Given the description of an element on the screen output the (x, y) to click on. 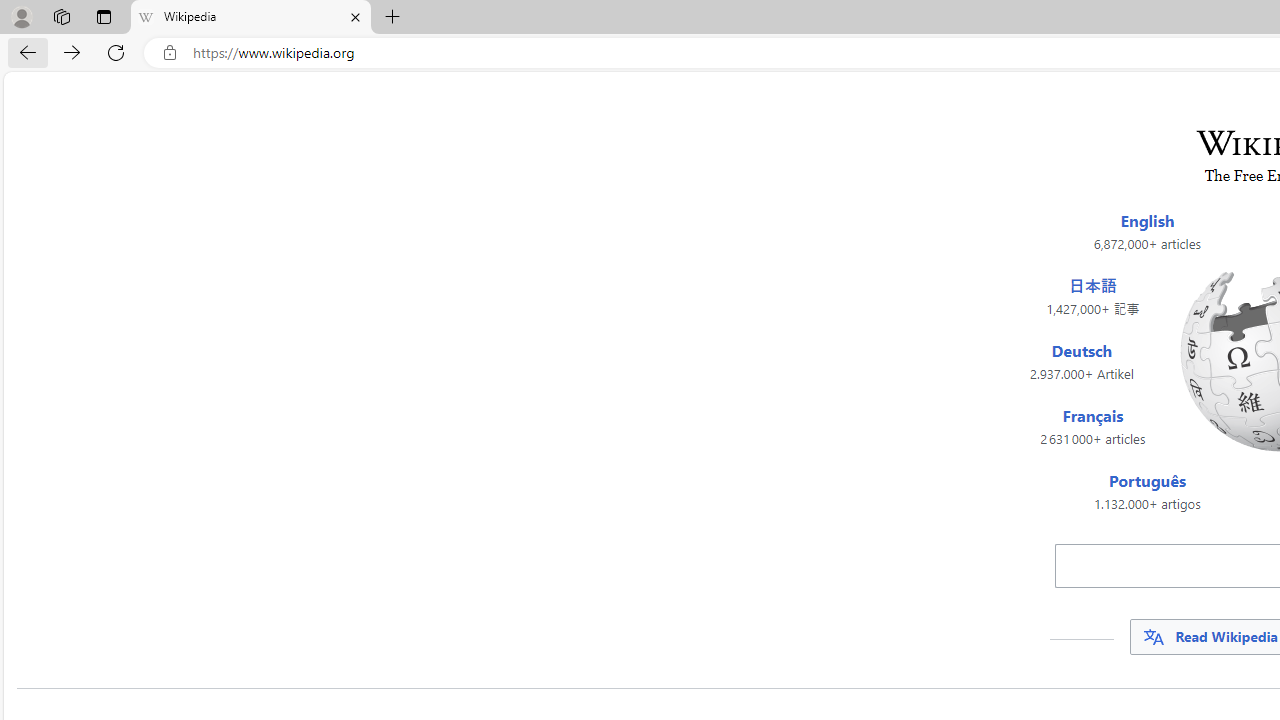
Deutsch 2.937.000+ Artikel (1081, 362)
Wikipedia - Sleeping (250, 17)
English 6,872,000+ articles (1147, 232)
Forward (72, 52)
